Given the description of an element on the screen output the (x, y) to click on. 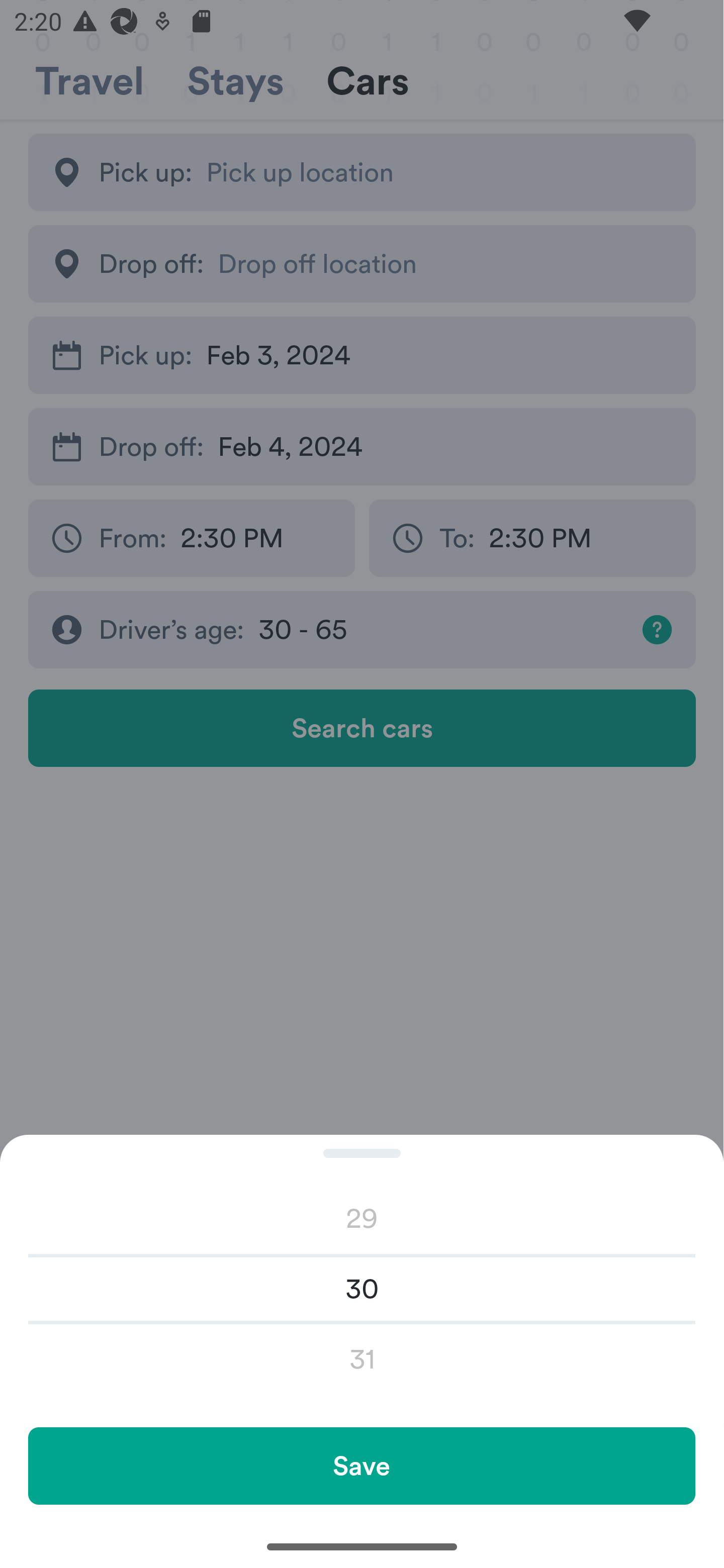
Save (361, 1465)
